Given the description of an element on the screen output the (x, y) to click on. 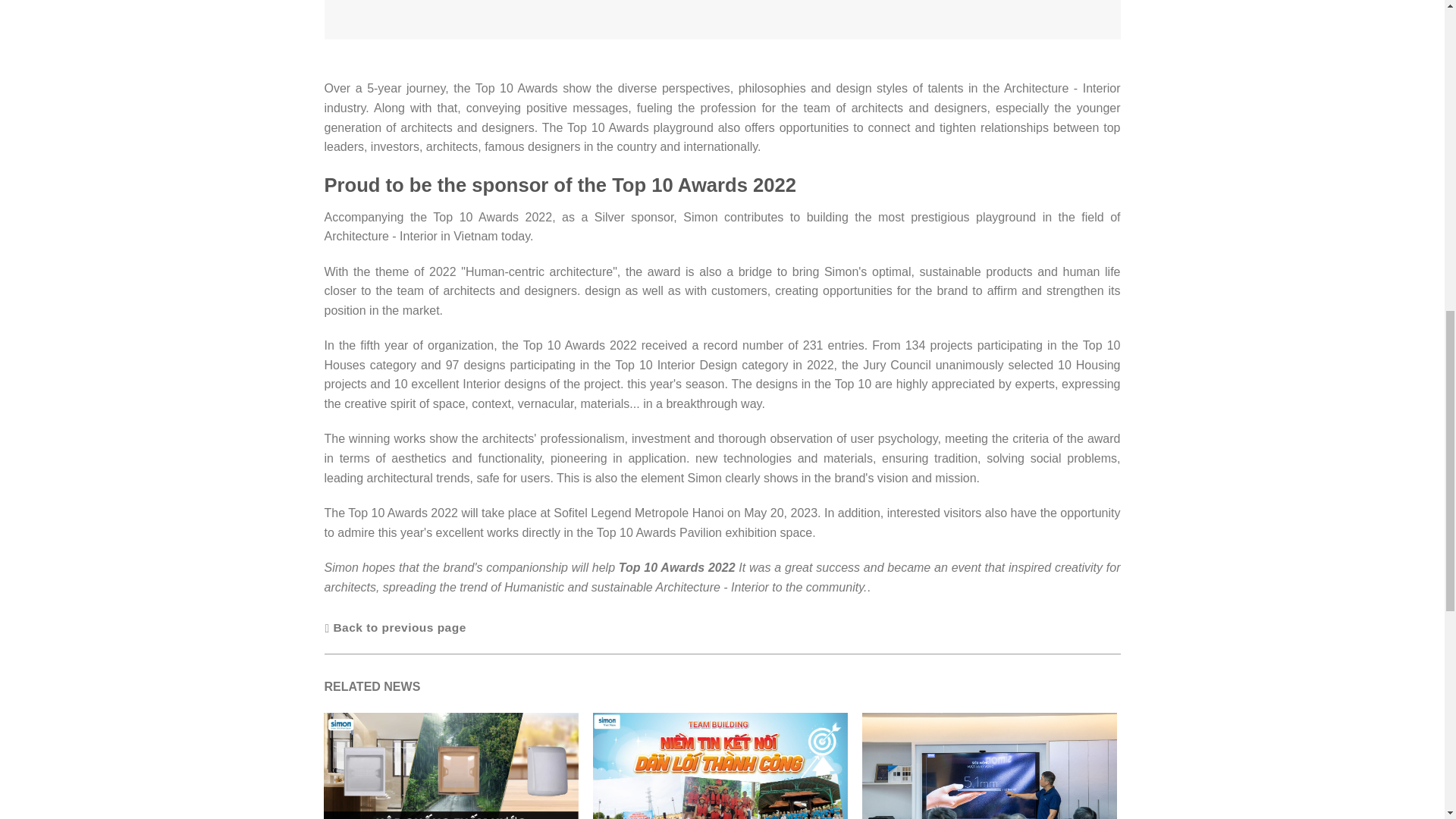
Back to previous page (395, 627)
simon-awards-2022 (722, 19)
